Given the description of an element on the screen output the (x, y) to click on. 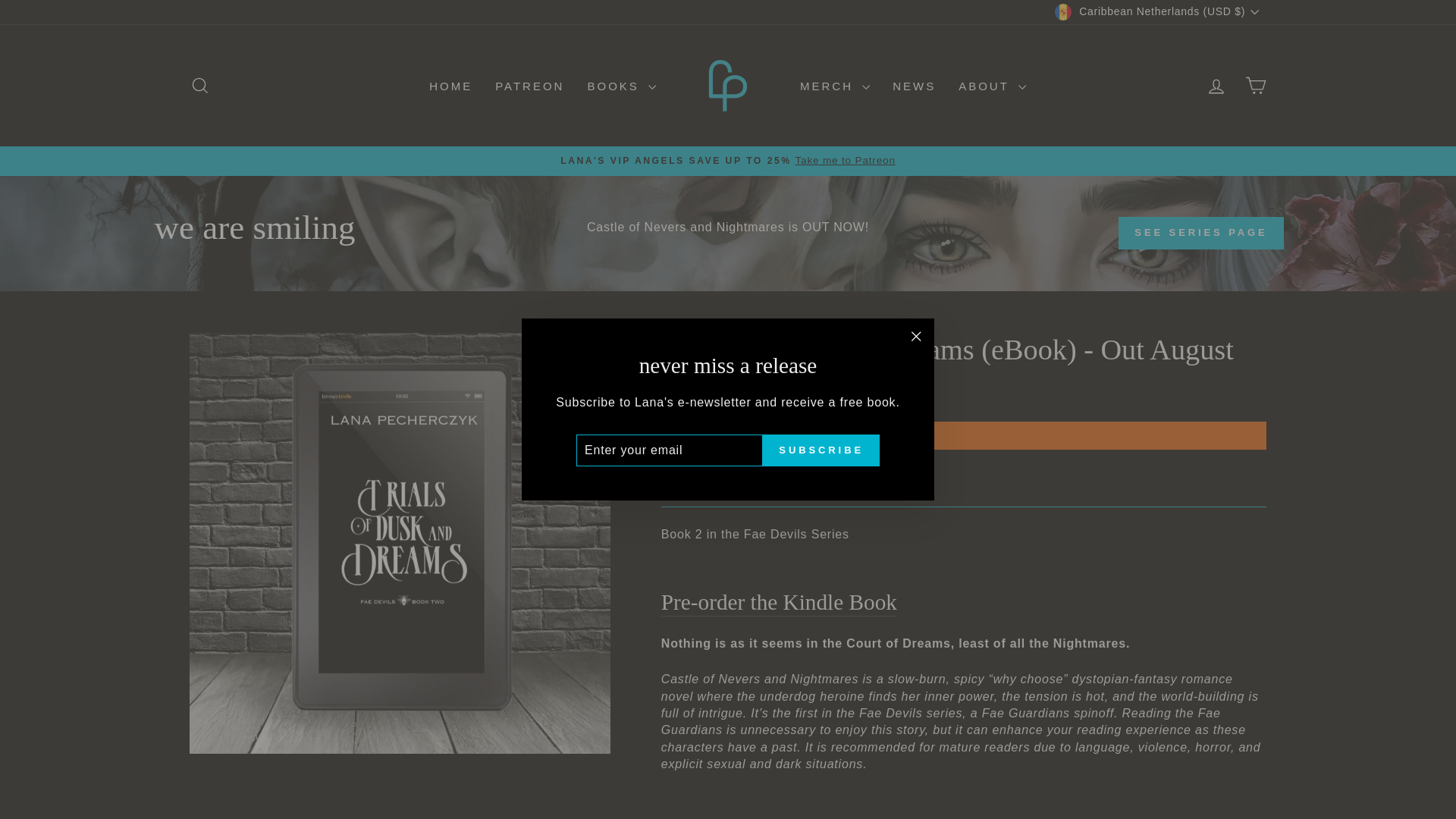
icon-X (915, 336)
ICON-SEARCH (200, 85)
ACCOUNT (1216, 86)
